Given the description of an element on the screen output the (x, y) to click on. 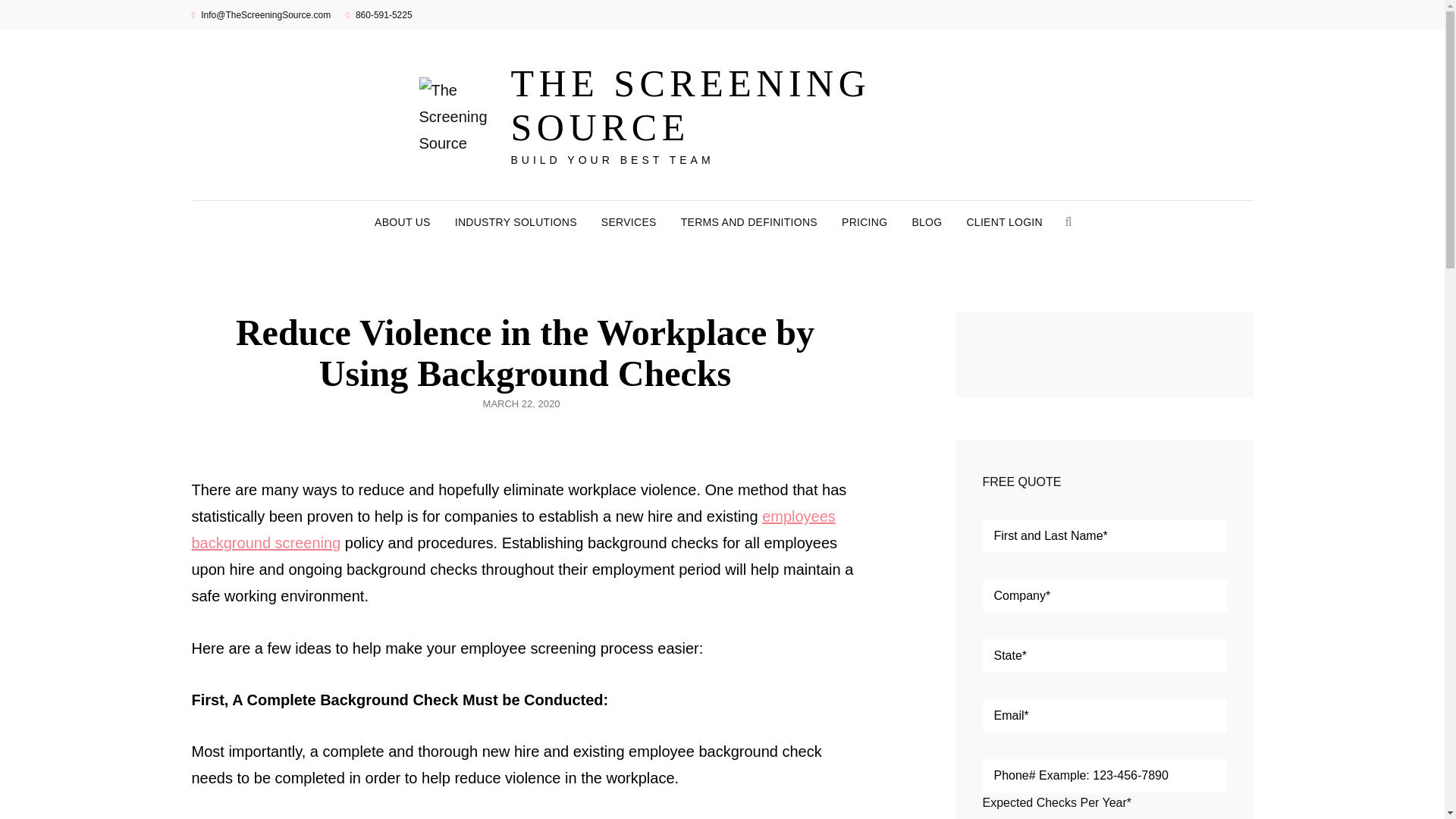
ABOUT US (402, 221)
MARCH 22, 2020 (521, 403)
BLOG (926, 221)
CLIENT LOGIN (1003, 221)
SERVICES (628, 221)
860-591-5225 (379, 15)
INDUSTRY SOLUTIONS (515, 221)
employees background screening (512, 529)
SEARCH (1068, 221)
THE SCREENING SOURCE (690, 105)
PRICING (864, 221)
TERMS AND DEFINITIONS (748, 221)
